Given the description of an element on the screen output the (x, y) to click on. 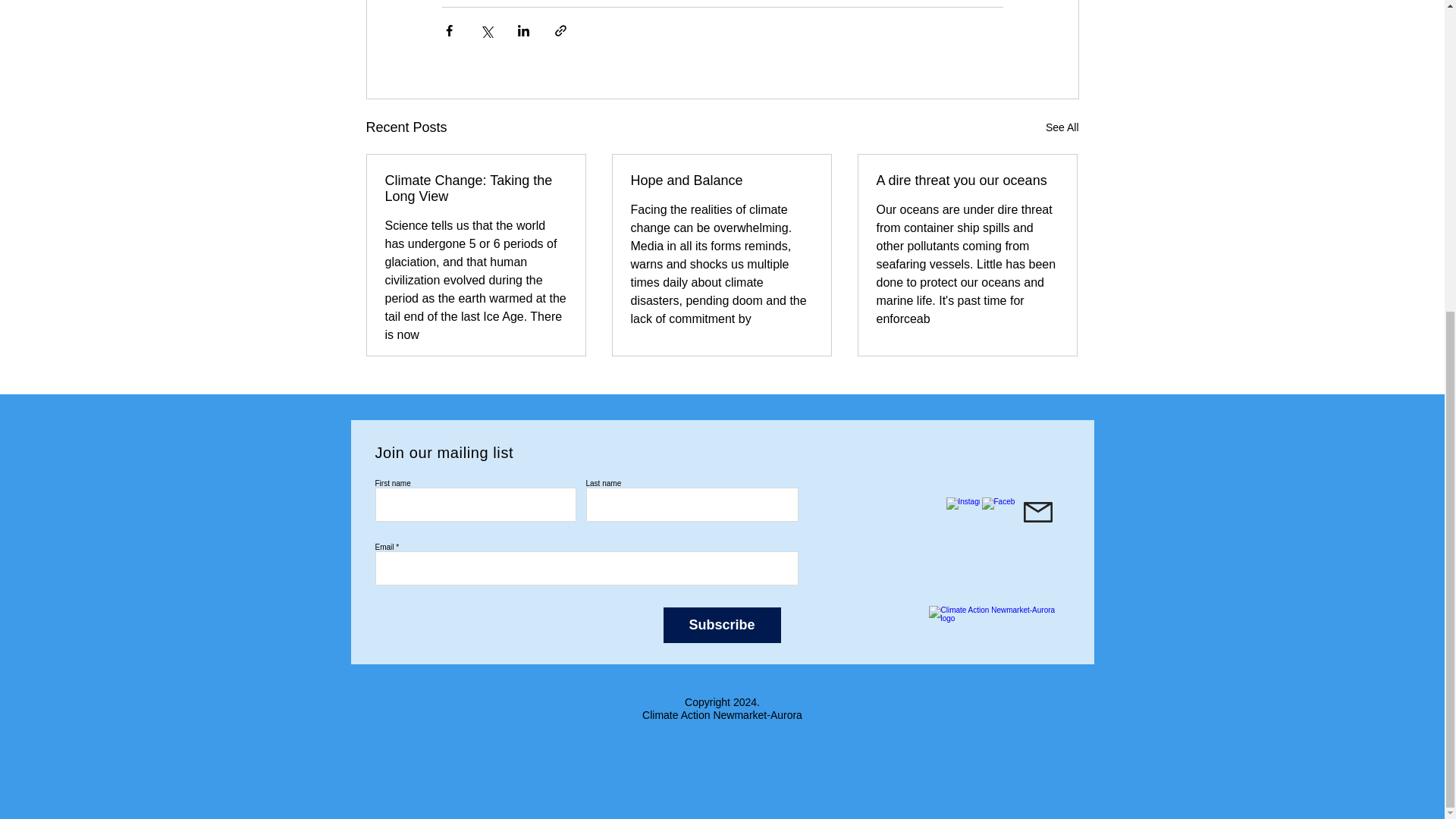
See All (1061, 127)
Subscribe (721, 624)
Hope and Balance (721, 180)
A dire threat you our oceans (967, 180)
Climate Change: Taking the Long View (476, 188)
